Given the description of an element on the screen output the (x, y) to click on. 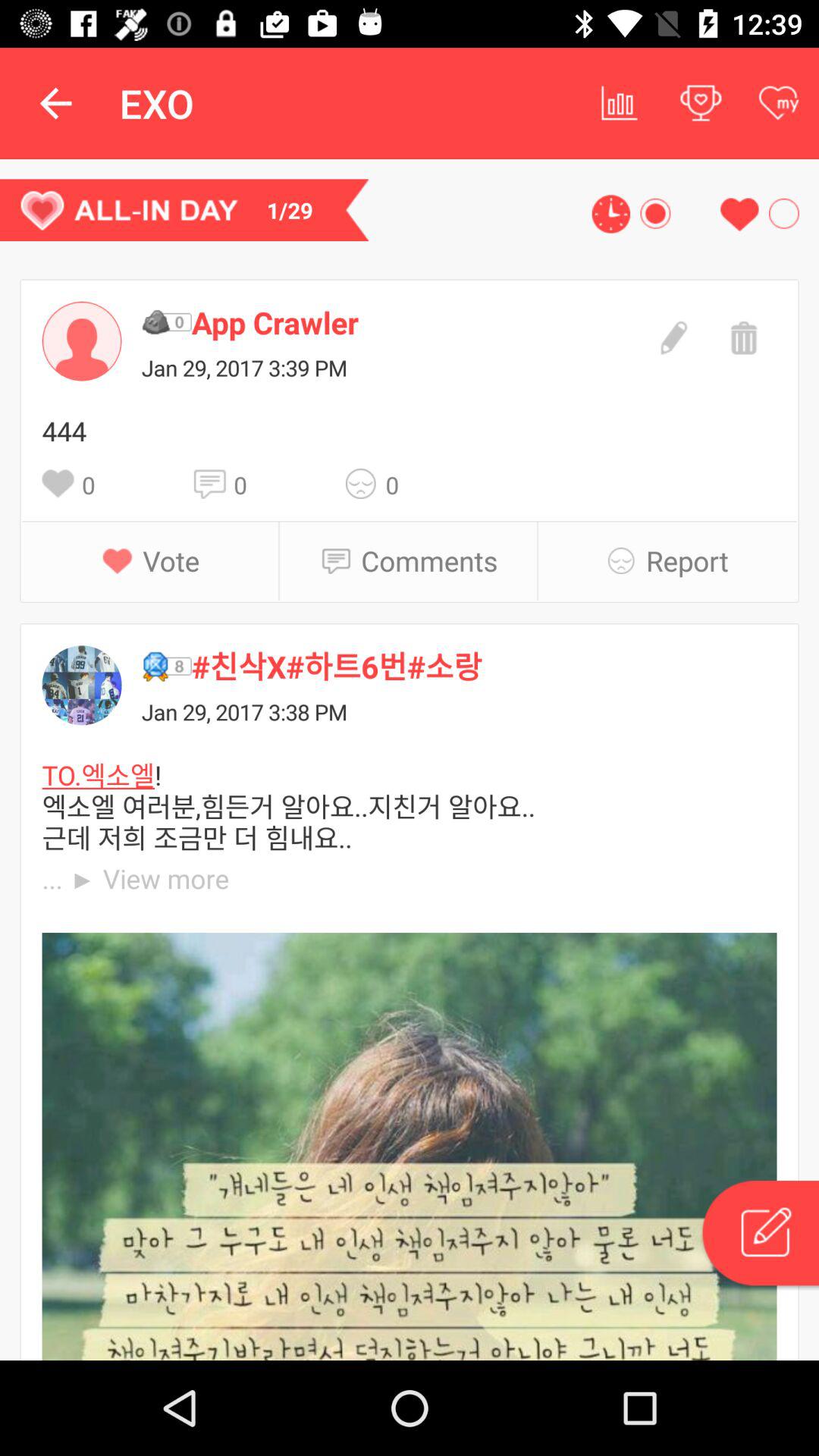
scroll until the 1/29 (184, 210)
